Given the description of an element on the screen output the (x, y) to click on. 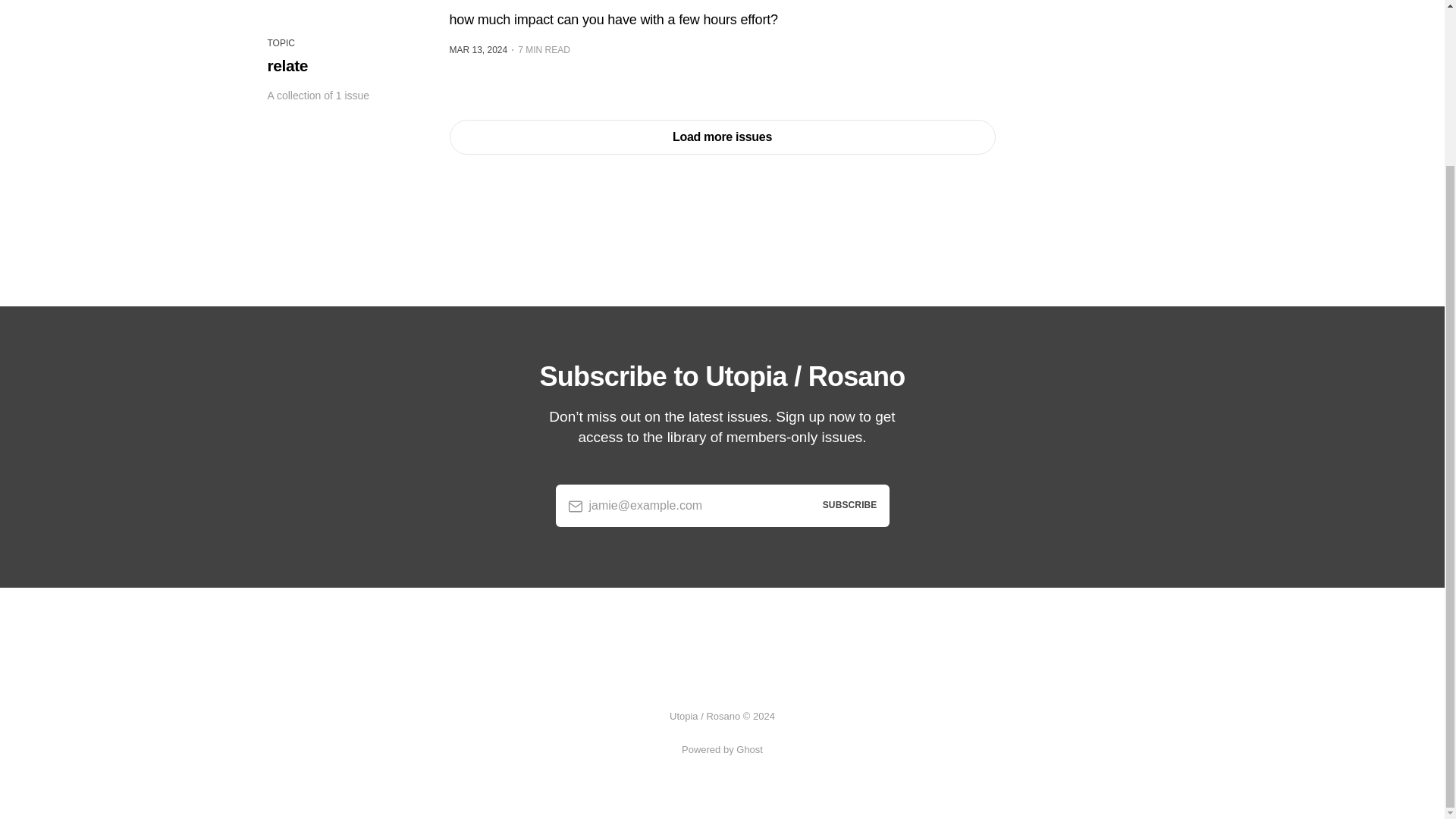
Powered by Ghost (721, 749)
Load more issues (721, 136)
